Given the description of an element on the screen output the (x, y) to click on. 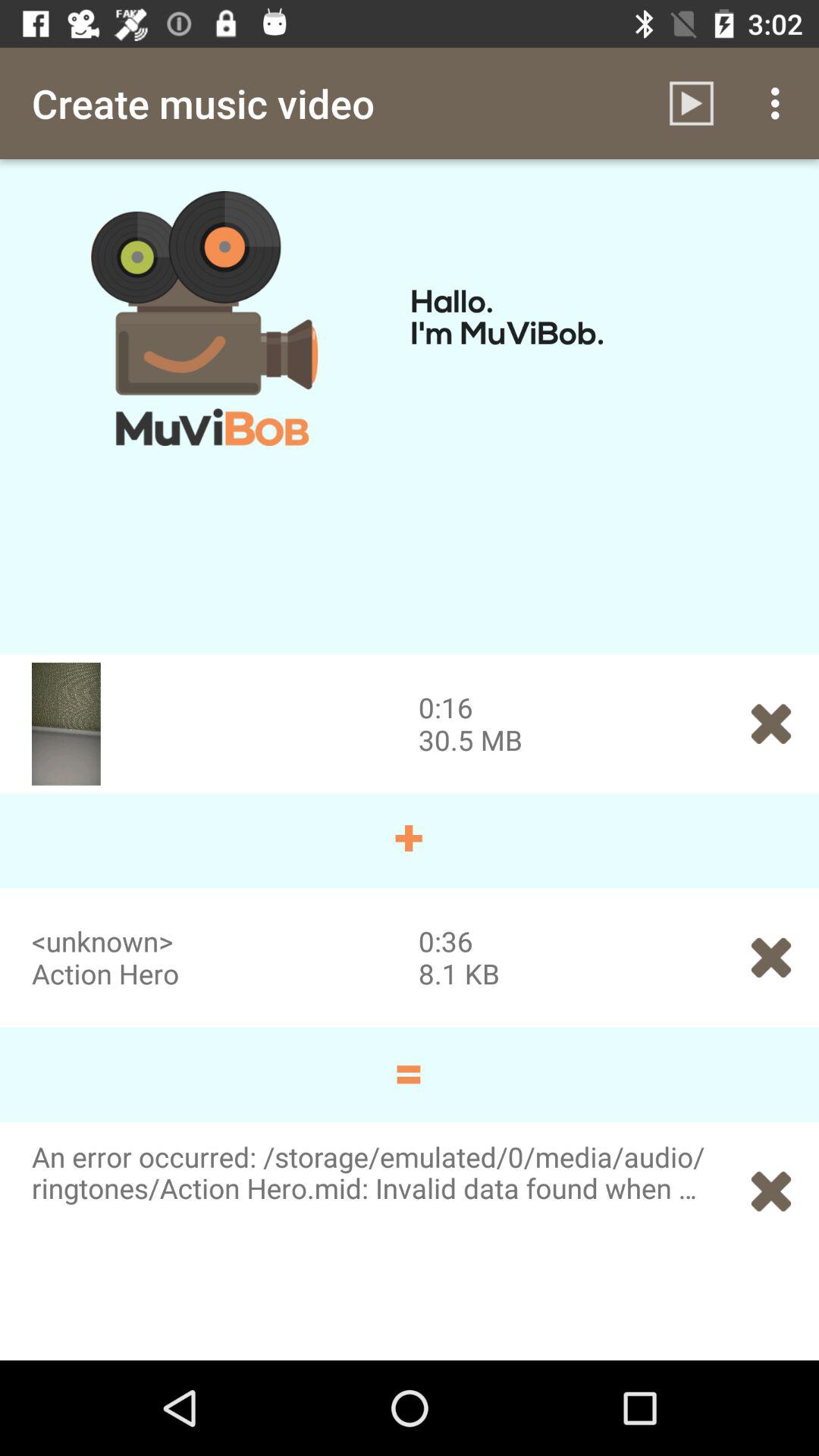
turn on the item to the right of an error occurred (771, 1191)
